Given the description of an element on the screen output the (x, y) to click on. 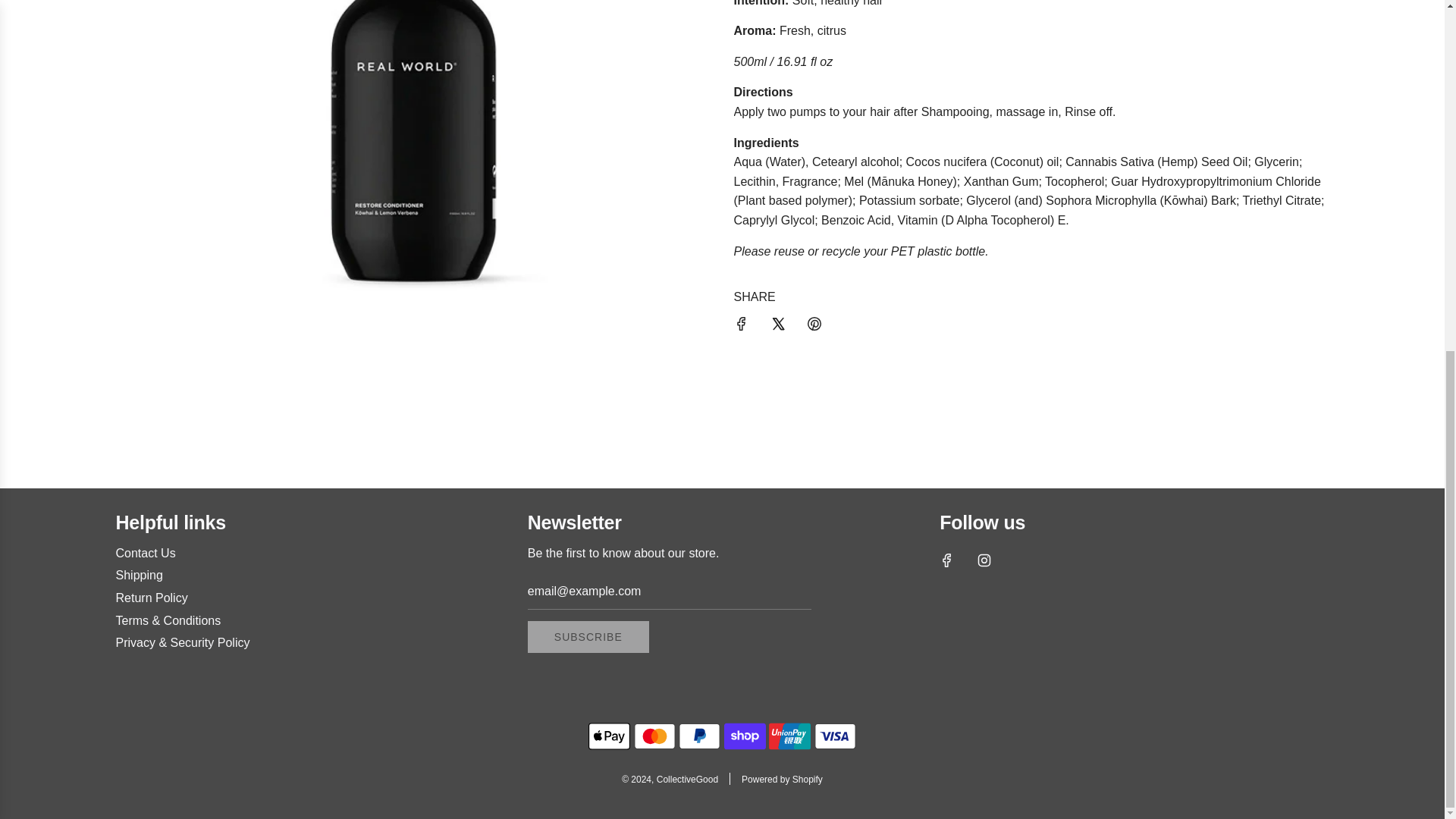
Shop Pay (744, 736)
Union Pay (789, 736)
Apple Pay (609, 736)
PayPal (699, 736)
Mastercard (654, 736)
Visa (834, 736)
